Given the description of an element on the screen output the (x, y) to click on. 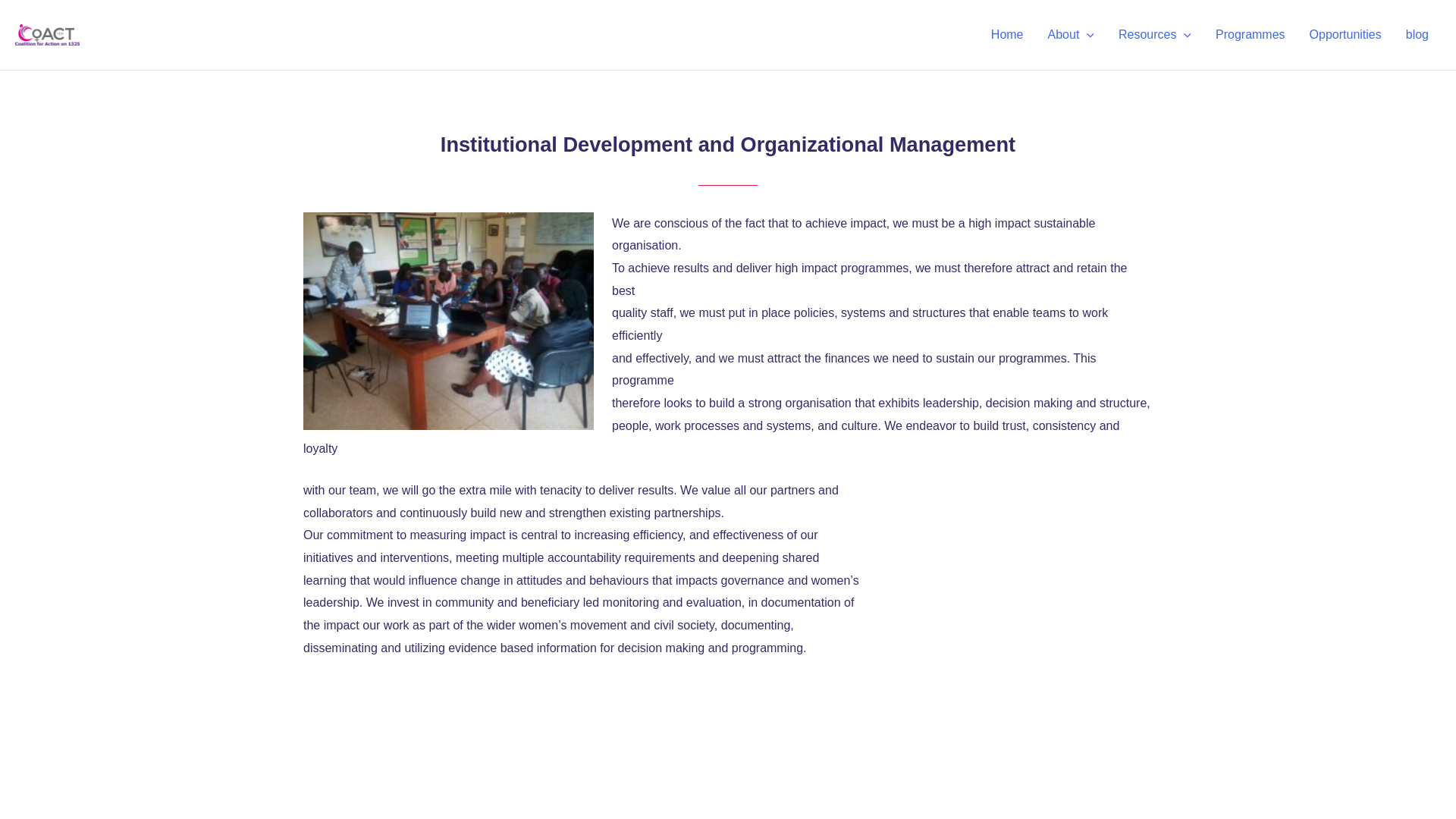
Home (1006, 34)
Resources (1155, 34)
blog (1417, 34)
Opportunities (1345, 34)
About (1070, 34)
Programmes (1250, 34)
